Given the description of an element on the screen output the (x, y) to click on. 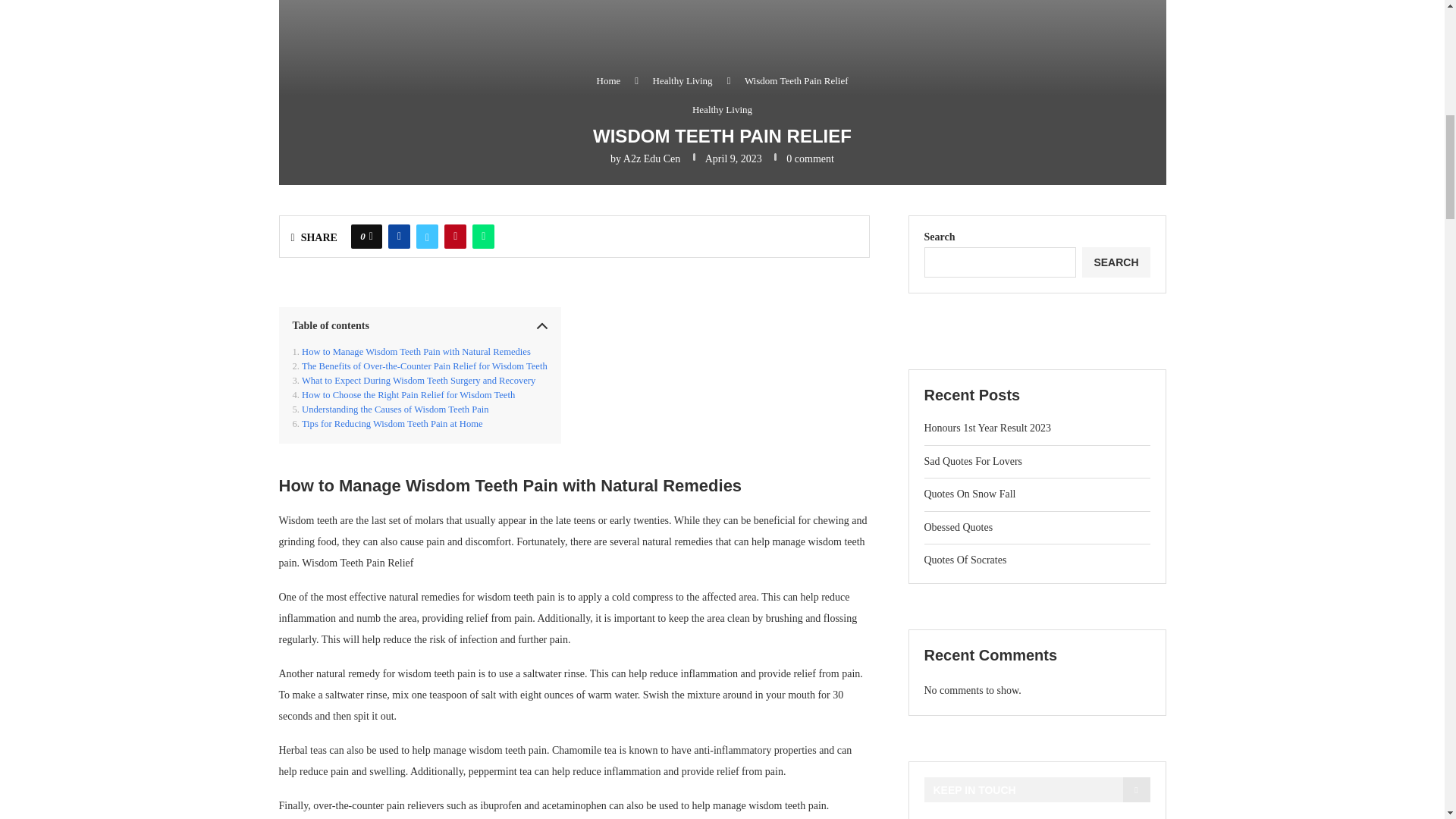
How to Manage Wisdom Teeth Pain with Natural Remedies (411, 351)
How to Manage Wisdom Teeth Pain with Natural Remedies (411, 351)
Healthy Living (722, 110)
What to Expect During Wisdom Teeth Surgery and Recovery (413, 380)
A2z Edu Cen (651, 158)
How to Choose the Right Pain Relief for Wisdom Teeth (403, 395)
Understanding the Causes of Wisdom Teeth Pain (390, 409)
How to Choose the Right Pain Relief for Wisdom Teeth (403, 395)
